Given the description of an element on the screen output the (x, y) to click on. 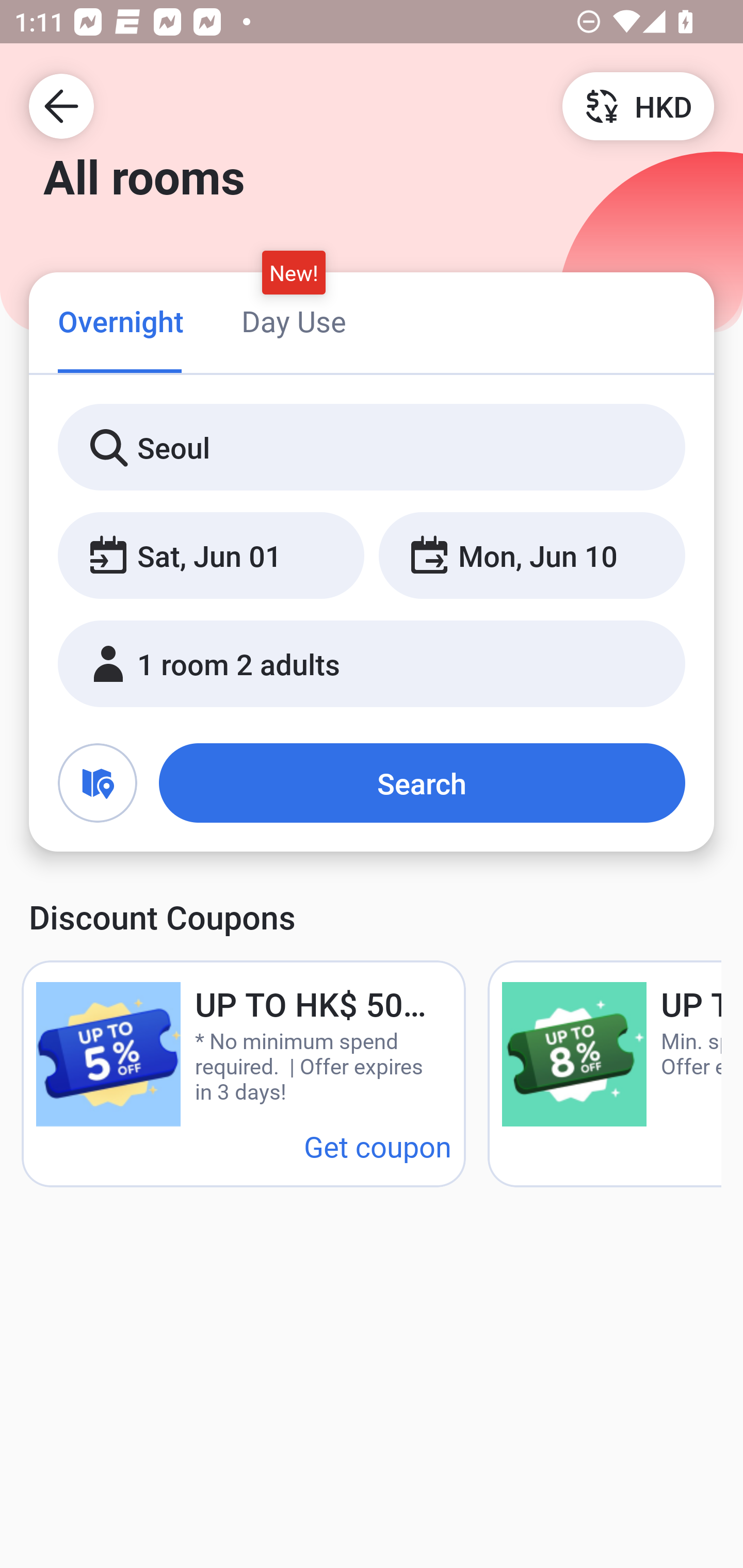
HKD (638, 105)
New! (294, 272)
Day Use (293, 321)
Seoul (371, 447)
Sat, Jun 01 (210, 555)
Mon, Jun 10 (531, 555)
1 room 2 adults (371, 663)
Search (422, 783)
Get coupon (377, 1146)
